Given the description of an element on the screen output the (x, y) to click on. 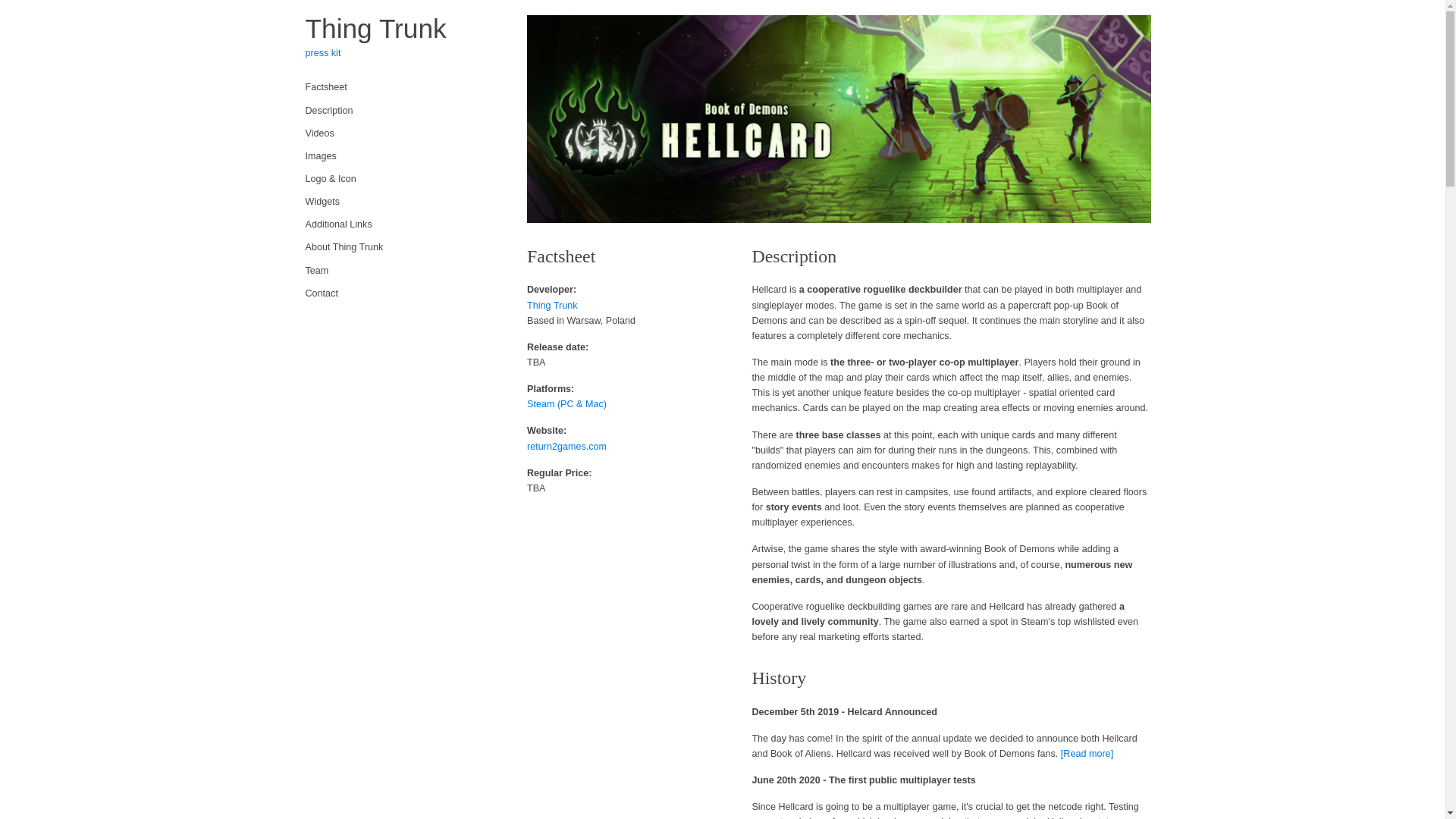
Thing Trunk (374, 28)
Factsheet (401, 87)
press kit (322, 52)
About Thing Trunk (401, 246)
Videos (401, 133)
Team (401, 270)
return2games.com (567, 446)
Contact (401, 292)
Widgets (401, 201)
Thing Trunk (552, 305)
Additional Links (401, 223)
Images (401, 155)
Description (401, 110)
Hellcard (839, 118)
